Given the description of an element on the screen output the (x, y) to click on. 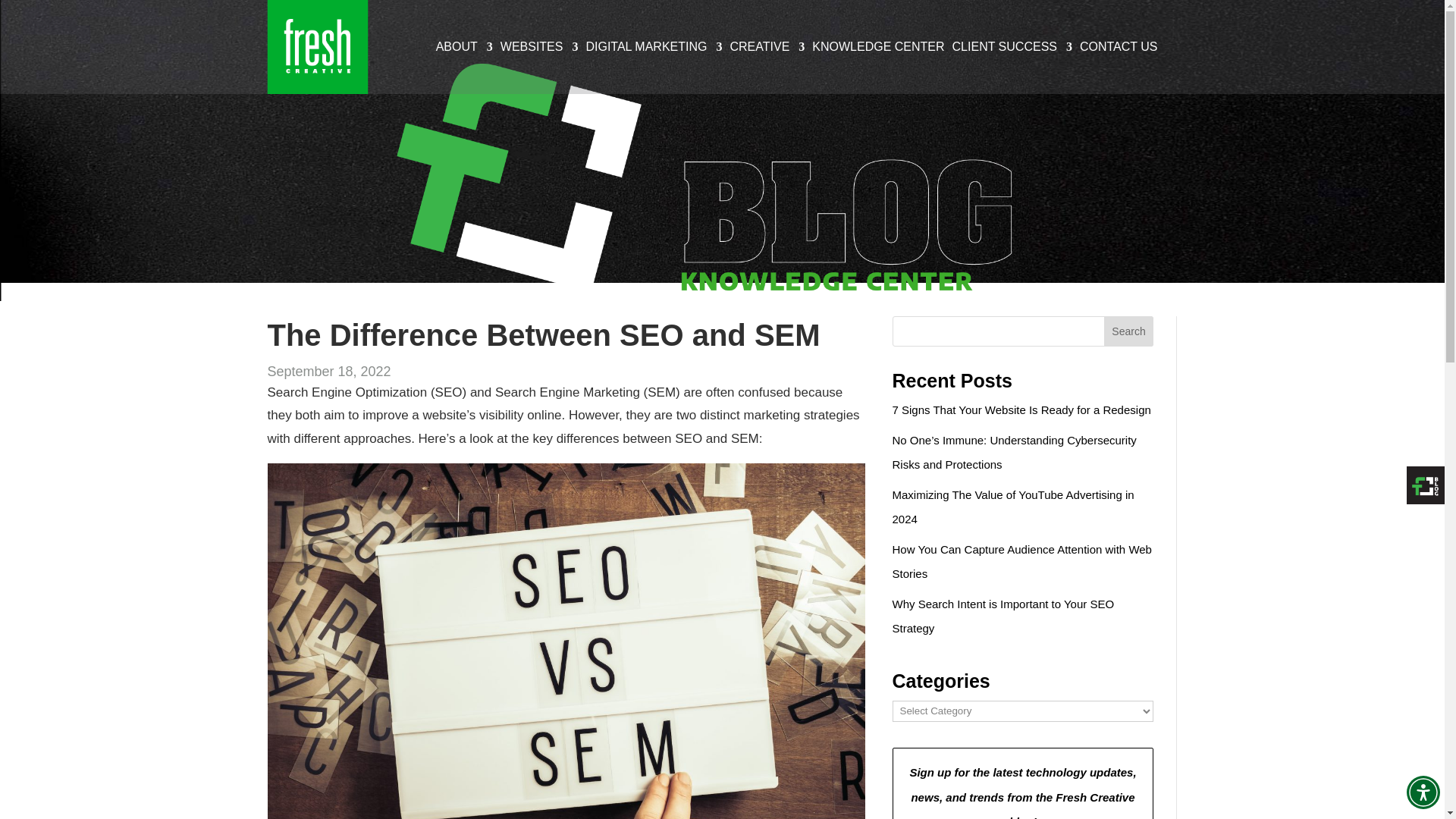
DIGITAL MARKETING (653, 47)
KNOWLEDGE CENTER (877, 47)
CLIENT SUCCESS (1011, 47)
Search (1128, 331)
Accessibility Menu (1422, 792)
